Given the description of an element on the screen output the (x, y) to click on. 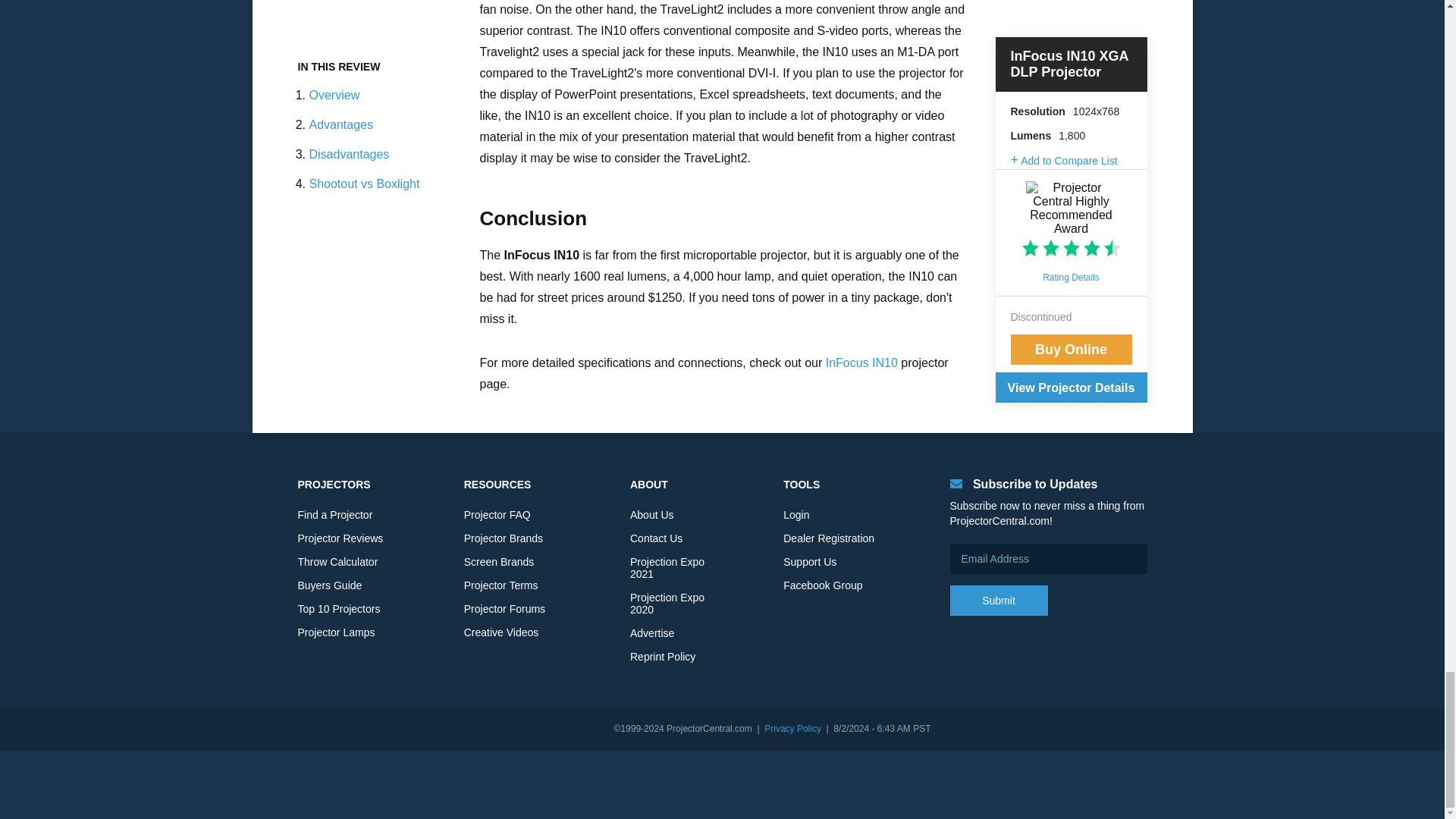
Submit (997, 600)
